Given the description of an element on the screen output the (x, y) to click on. 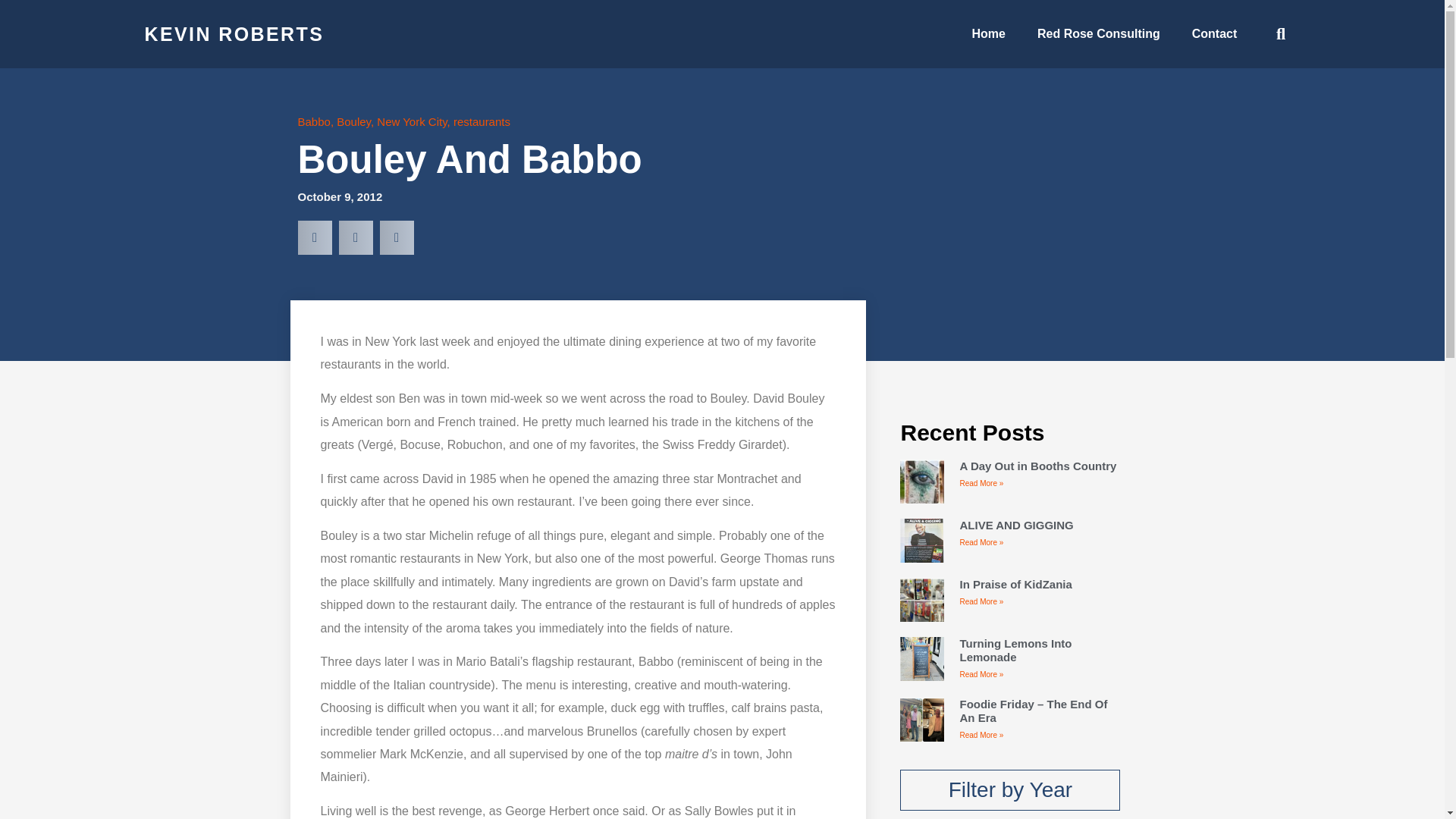
ALIVE AND GIGGING (1016, 524)
Filter by Year (1009, 789)
In Praise of KidZania (1015, 584)
Babbo (313, 121)
Bouley (353, 121)
David Bouley (788, 398)
Babbo (655, 661)
October 9, 2012 (339, 197)
A Day Out in Booths Country (1037, 465)
New York City (411, 121)
restaurants (481, 121)
Turning Lemons Into Lemonade (1015, 650)
